Given the description of an element on the screen output the (x, y) to click on. 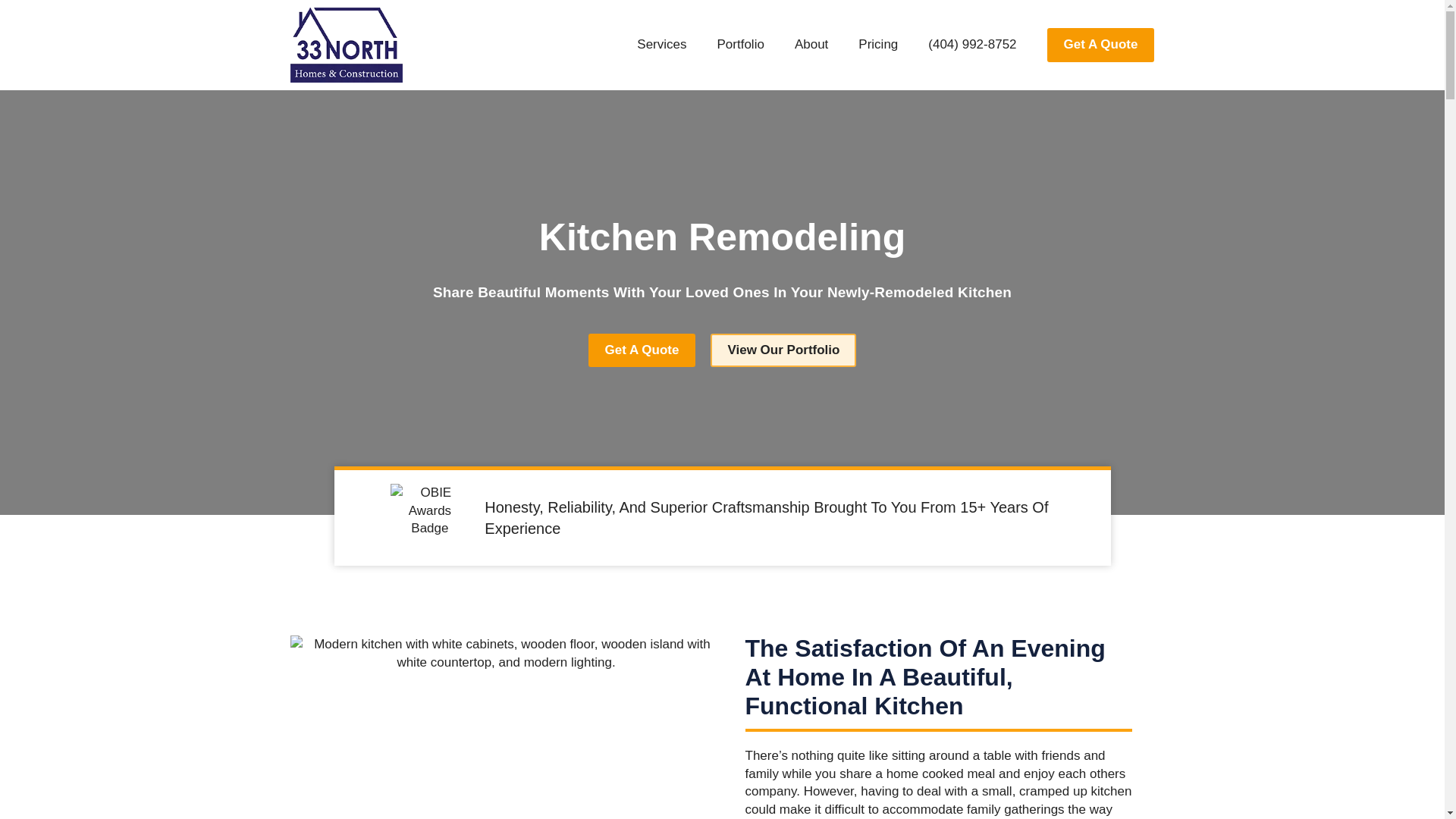
Get A Quote (641, 349)
Portfolio (739, 44)
Get A Quote (1100, 44)
About (810, 44)
Services (661, 44)
Pricing (877, 44)
